Given the description of an element on the screen output the (x, y) to click on. 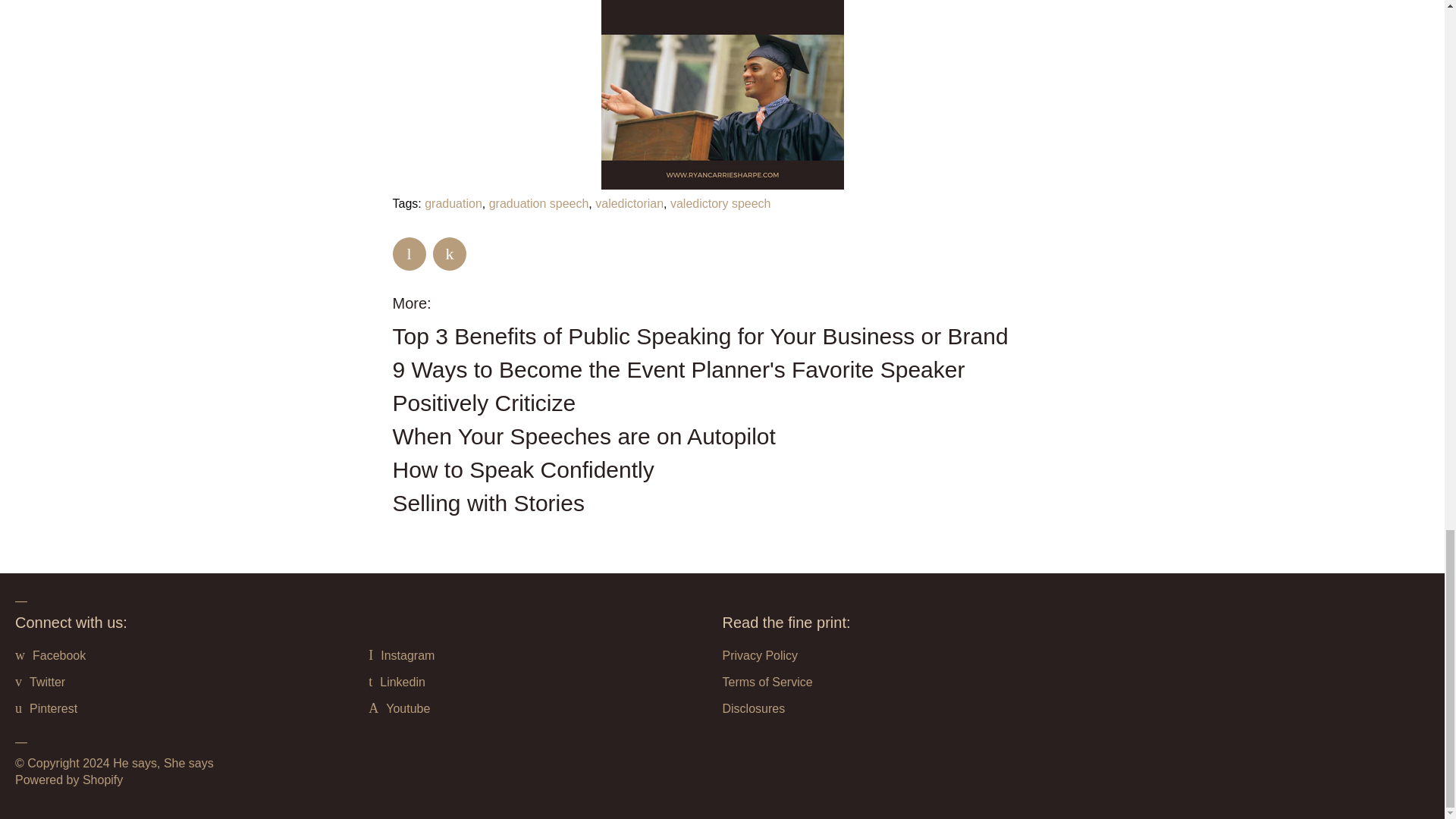
He says, She says on Facebook (58, 655)
valedictory speech (720, 203)
Positively Criticize (484, 402)
How to Speak Confidently (523, 469)
graduation speech (539, 203)
When Your Speeches are on Autopilot (584, 436)
He says, She says on Youtube (407, 707)
Selling with Stories (489, 502)
9 Ways to Become the Event Planner's Favorite Speaker (679, 369)
He says, She says on Instagram (406, 655)
Share on Twitter (448, 254)
valedictorian (629, 203)
He says, She says on Twitter (47, 681)
Top 3 Benefits of Public Speaking for Your Business or Brand (701, 335)
Share on Facebook (409, 254)
